Given the description of an element on the screen output the (x, y) to click on. 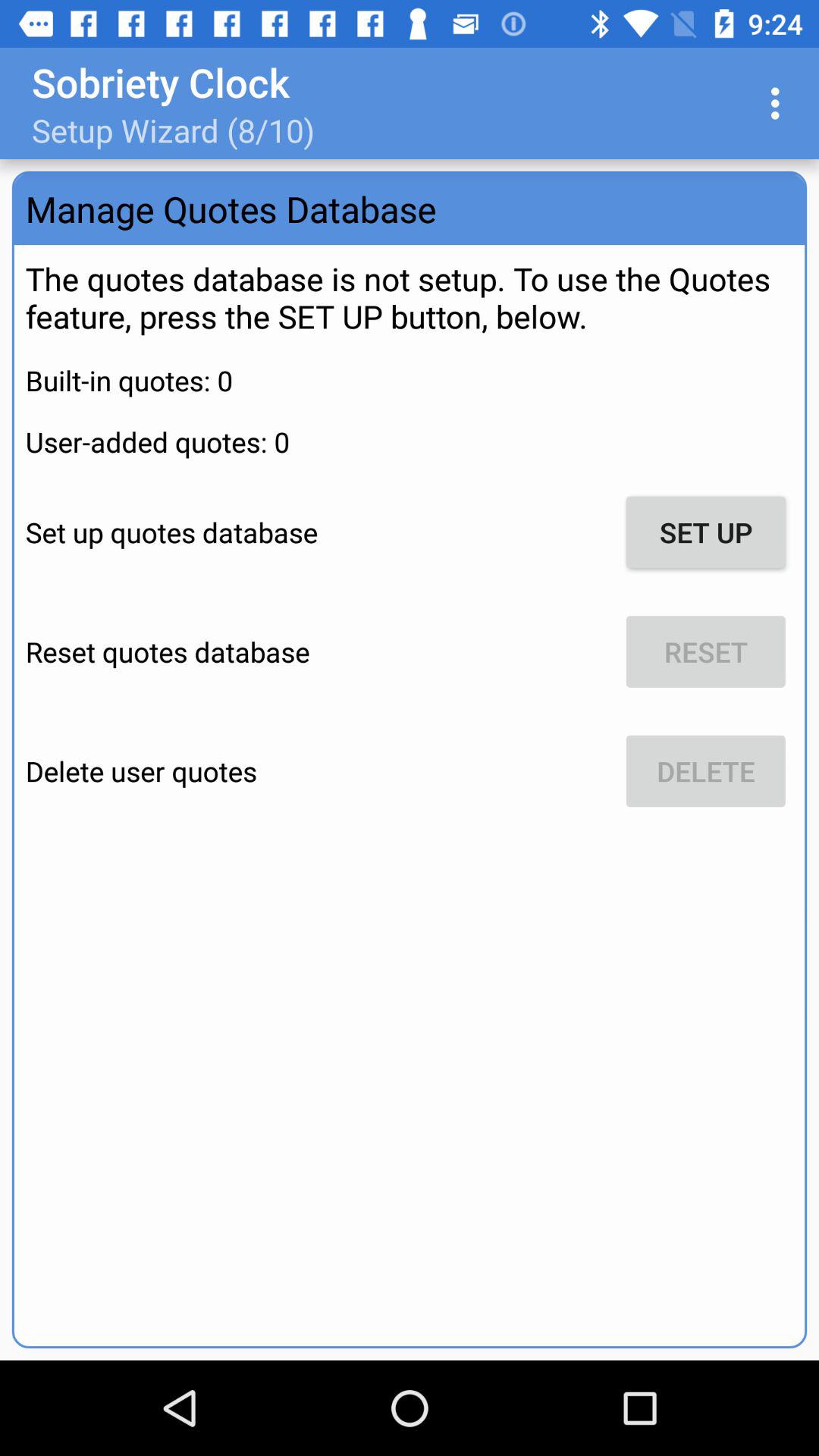
tap icon to the right of setup wizard 8 icon (779, 103)
